Given the description of an element on the screen output the (x, y) to click on. 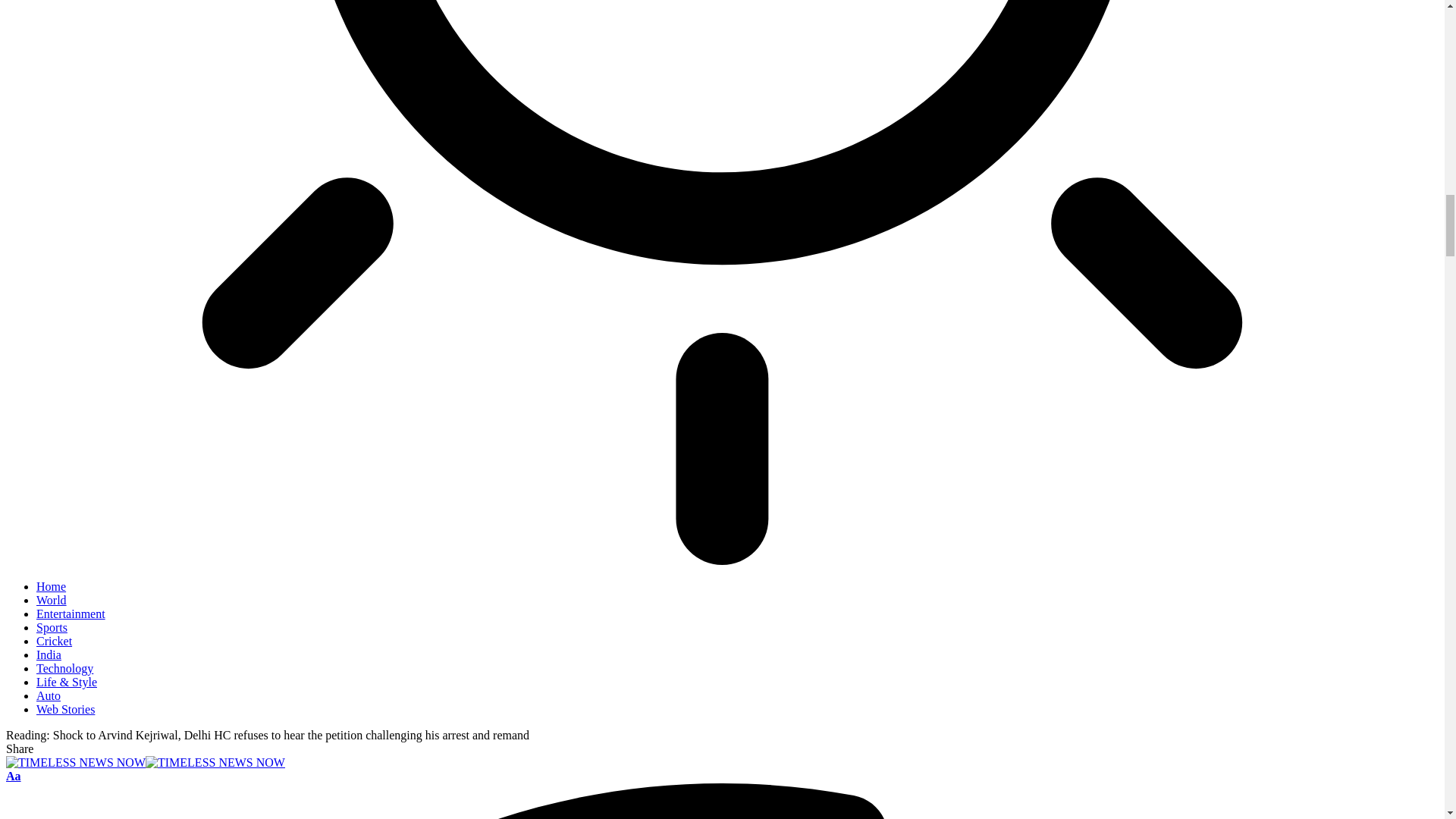
Home (50, 585)
Entertainment (70, 613)
Web Stories (65, 708)
Sports (51, 626)
India (48, 654)
TIMELESS NEWS NOW (145, 762)
Aa (13, 775)
World (51, 599)
Technology (64, 667)
Cricket (53, 640)
